Given the description of an element on the screen output the (x, y) to click on. 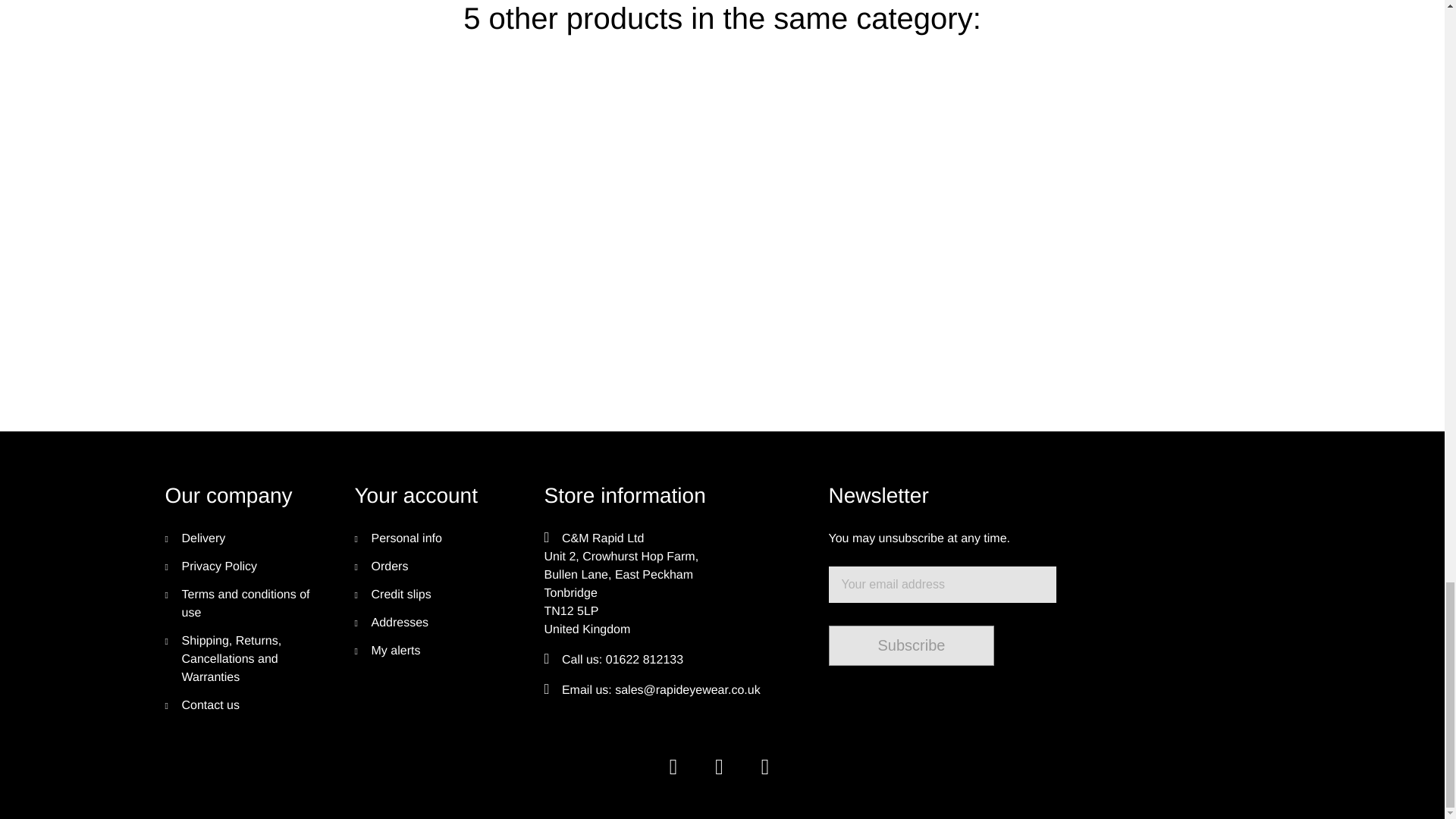
Subscribe (911, 645)
